Given the description of an element on the screen output the (x, y) to click on. 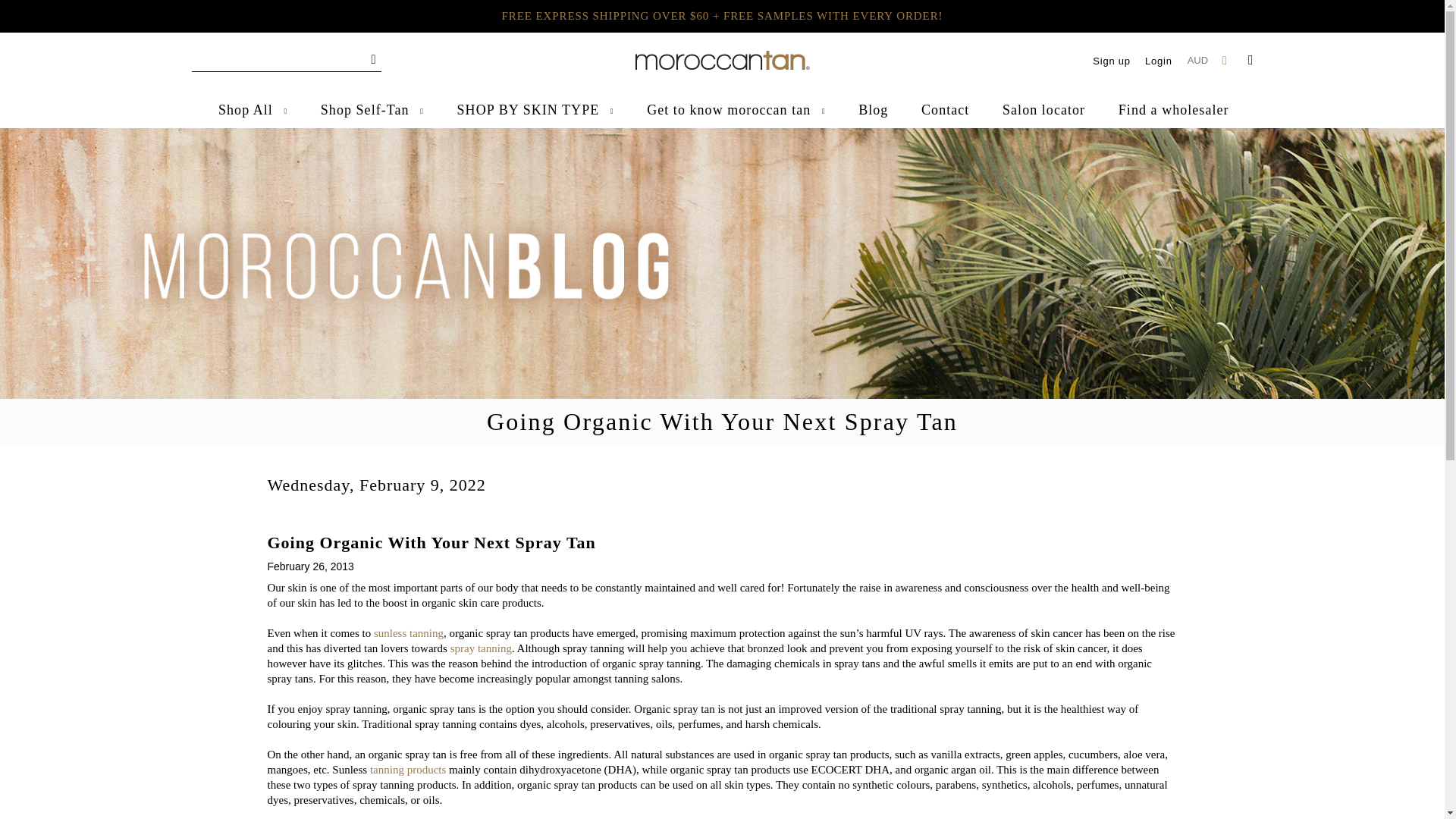
Is it worth it? let me search it... (285, 59)
Shop All (252, 109)
AUD (1198, 59)
Tanning Products (407, 769)
Spray Tanning (480, 648)
Sunless Tanning (409, 633)
Sign up (1111, 60)
